Given the description of an element on the screen output the (x, y) to click on. 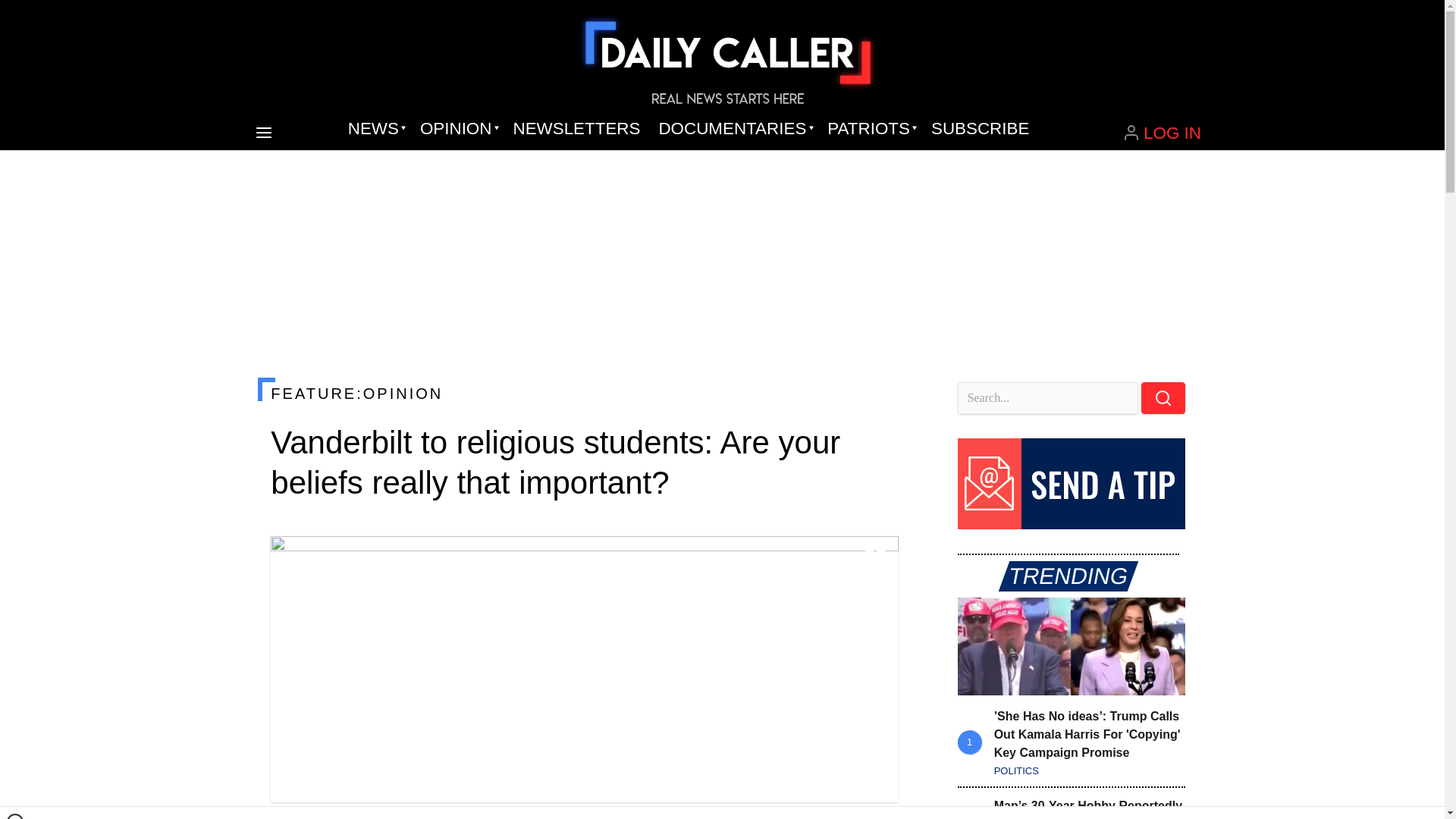
Close window (14, 816)
FEATURE:OPINION (584, 393)
Toggle fullscreen (874, 556)
NEWSLETTERS (576, 128)
DOCUMENTARIES (733, 128)
SUBSCRIBE (979, 128)
OPINION (456, 128)
PATRIOTS (869, 128)
NEWS (374, 128)
